Given the description of an element on the screen output the (x, y) to click on. 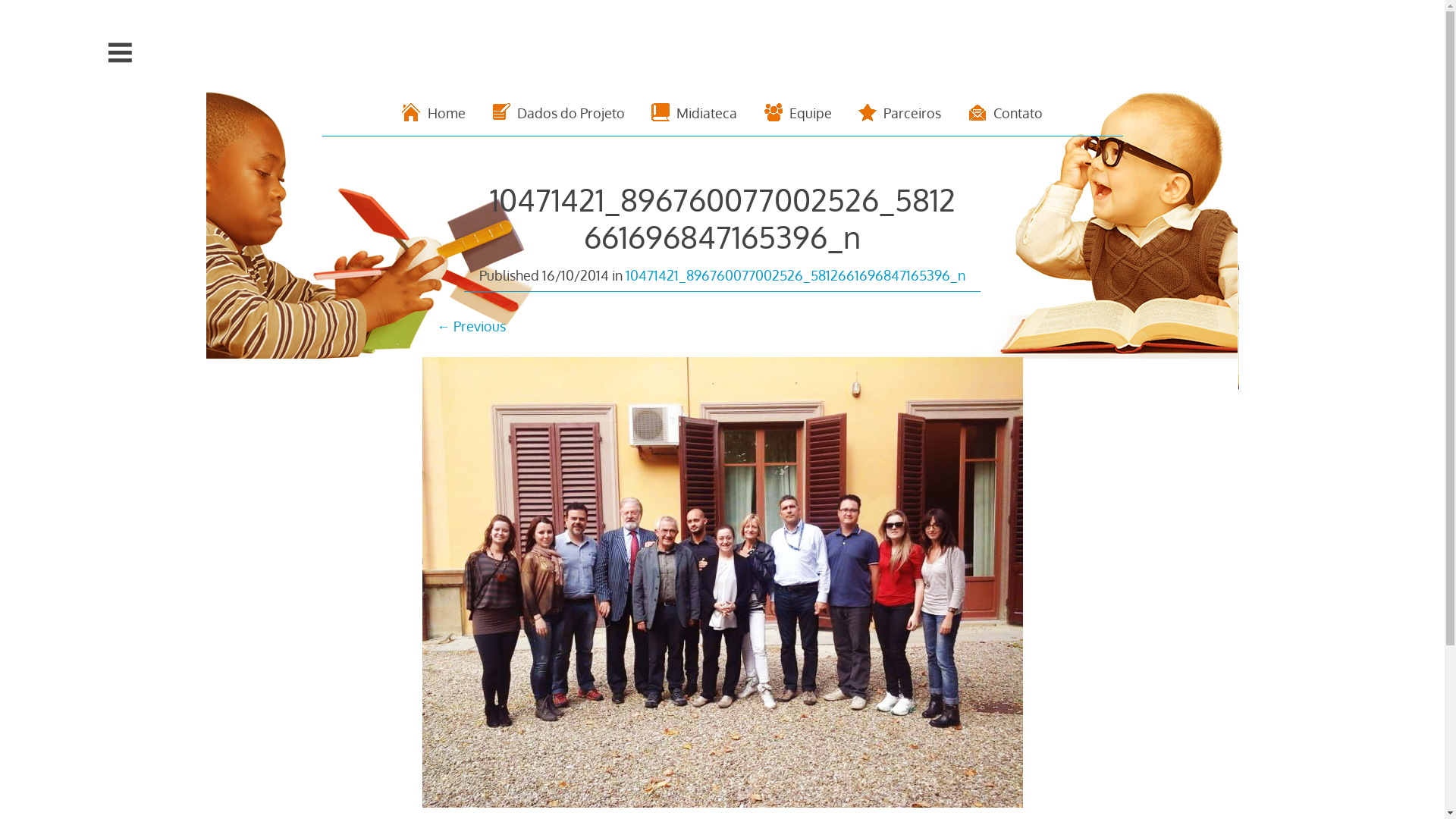
Parceiros Element type: text (899, 112)
Dados do Projeto Element type: text (558, 112)
10471421_896760077002526_5812661696847165396_n Element type: text (795, 274)
Home Element type: text (433, 112)
Equipe Element type: text (797, 112)
Contato Element type: text (1005, 112)
Midiateca Element type: text (694, 112)
Skip to content Element type: text (321, 50)
